Given the description of an element on the screen output the (x, y) to click on. 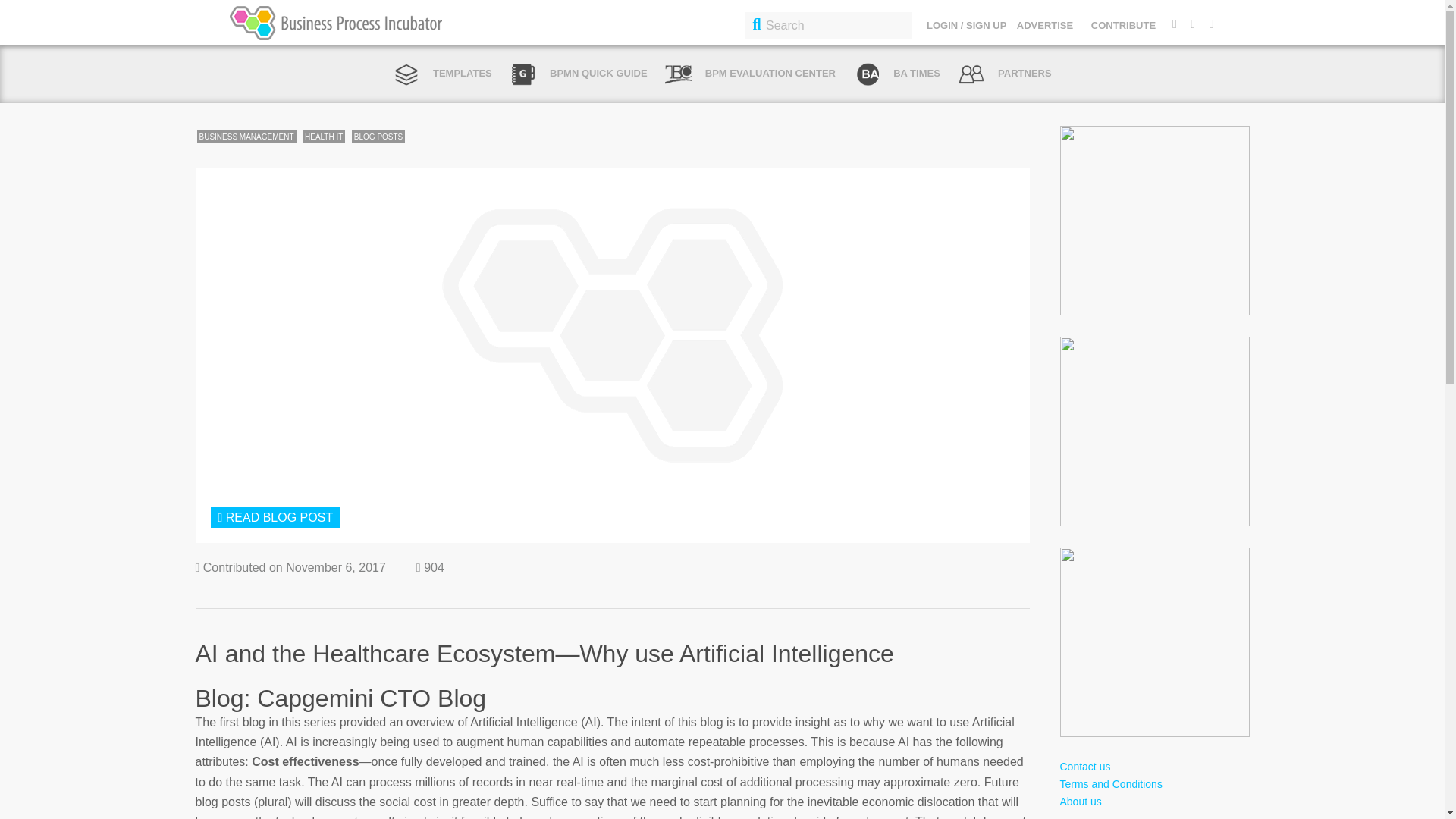
BLOG POSTS (378, 136)
TEMPLATES (442, 72)
BPM EVALUATION CENTER (750, 72)
HEALTH IT (323, 136)
BA TIMES (896, 72)
Terms and Conditions (1110, 784)
About us (1080, 801)
BPMN QUICK GUIDE (577, 72)
Partners (1004, 72)
READ BLOG POST (275, 516)
